Given the description of an element on the screen output the (x, y) to click on. 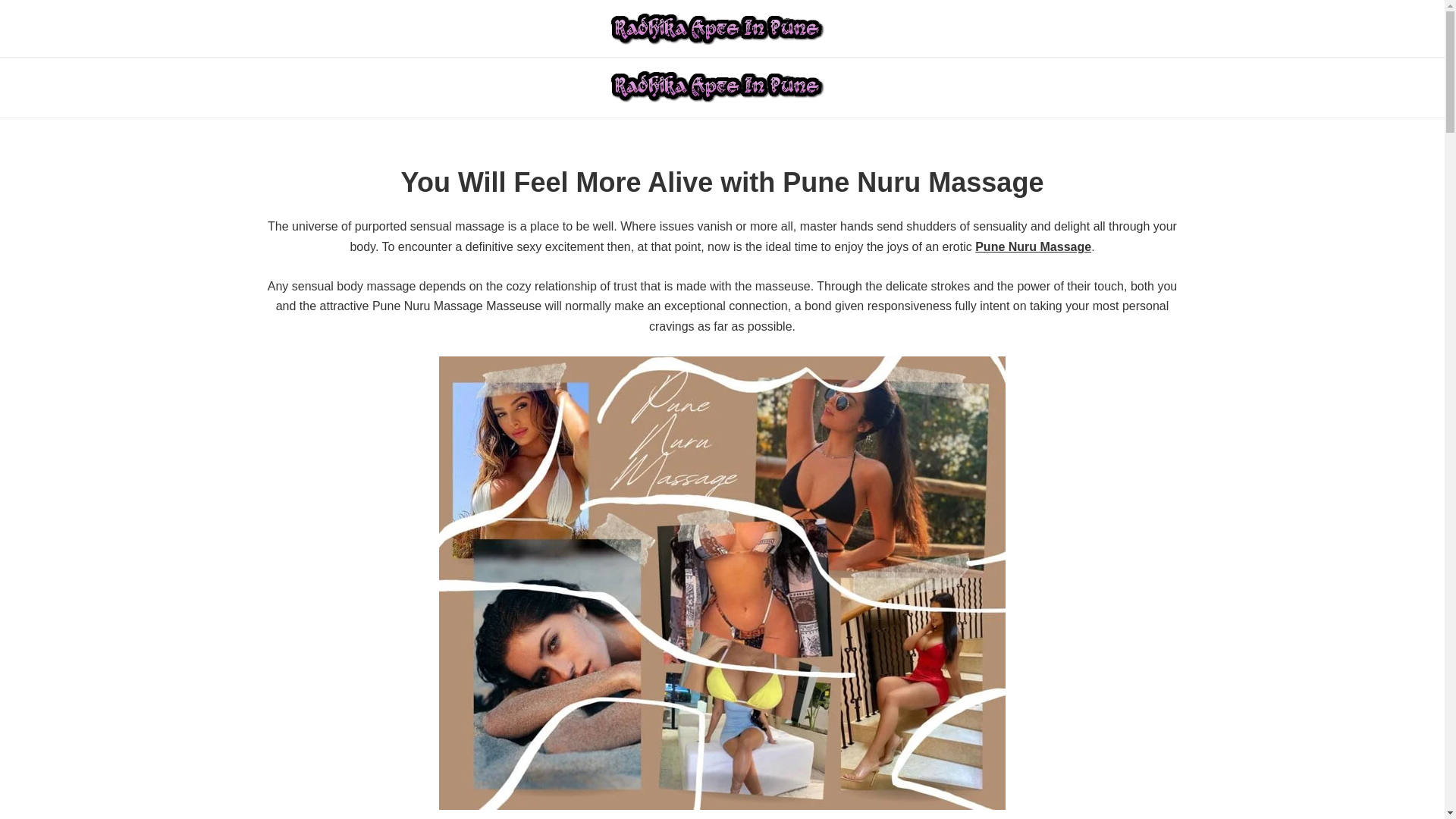
Pune Nuru Massage (1032, 246)
